Given the description of an element on the screen output the (x, y) to click on. 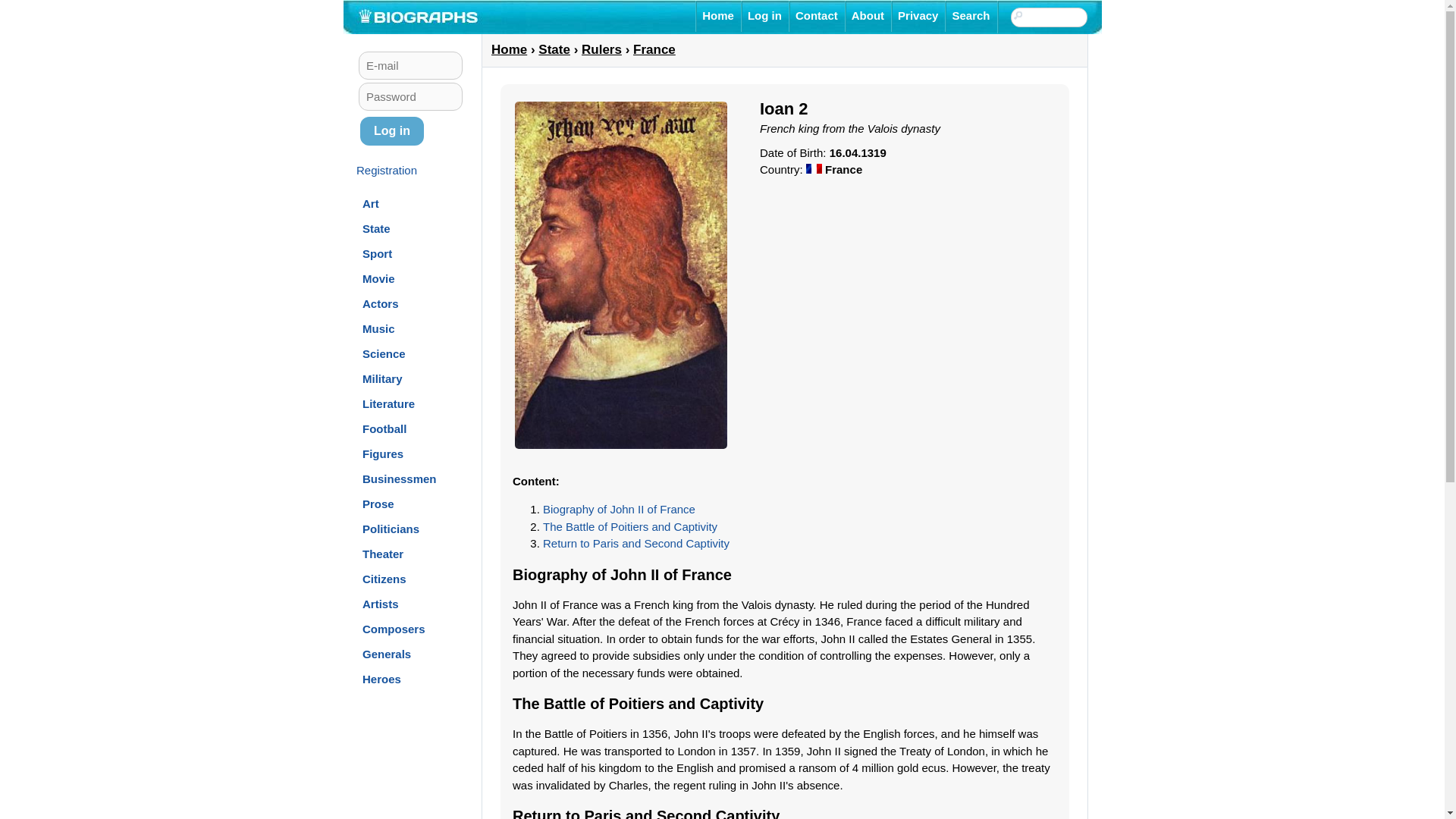
Home (718, 15)
State (376, 227)
Rulers (600, 49)
Home (509, 49)
Businessmen (399, 477)
Sport (376, 253)
Log in (765, 15)
Science (384, 353)
Businessmen (399, 477)
Movie (378, 277)
